Given the description of an element on the screen output the (x, y) to click on. 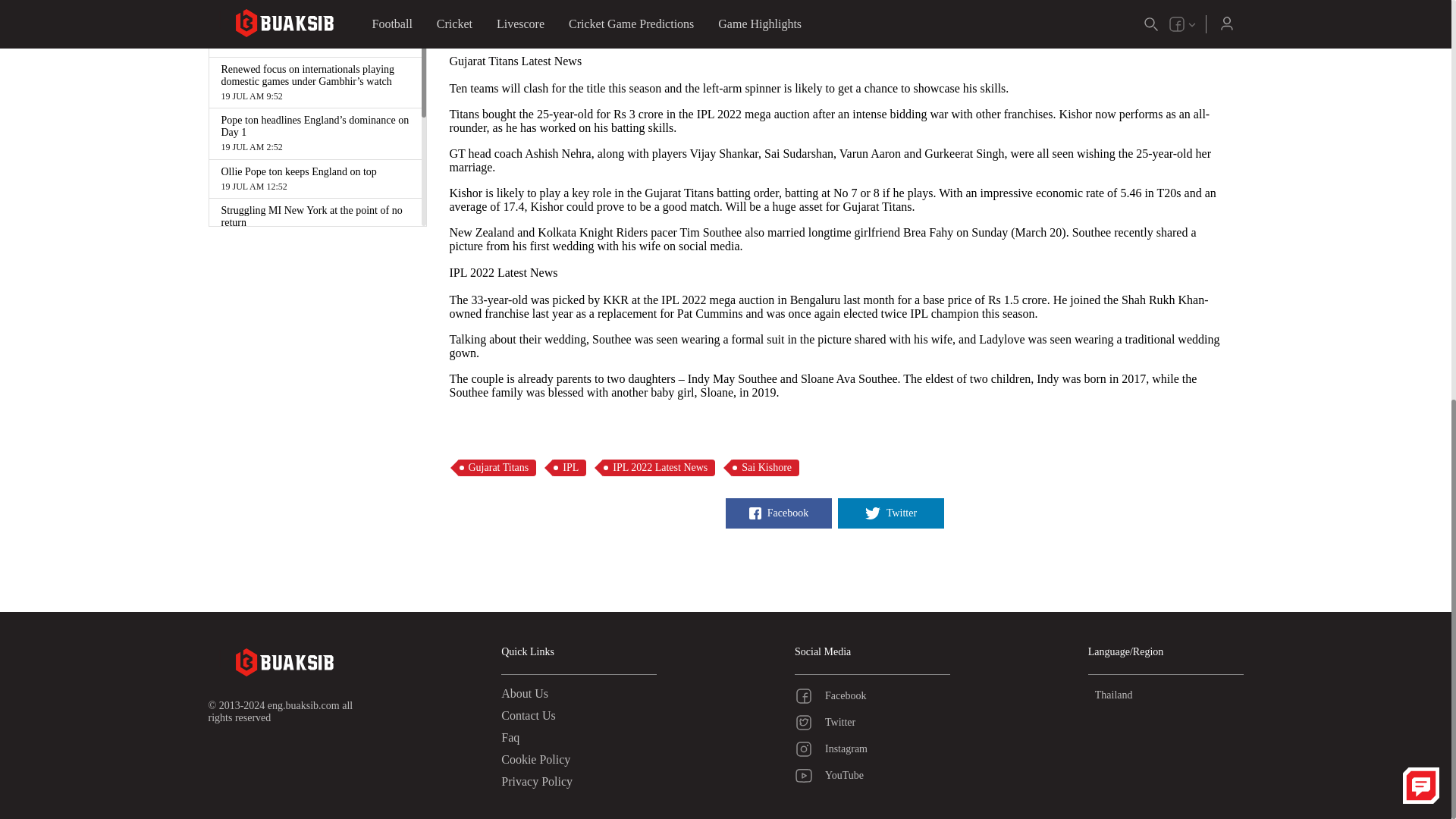
Sai Kishore (764, 467)
IPL (568, 467)
Gujarat Titans (496, 467)
IPL 2022 Latest News (657, 467)
